Given the description of an element on the screen output the (x, y) to click on. 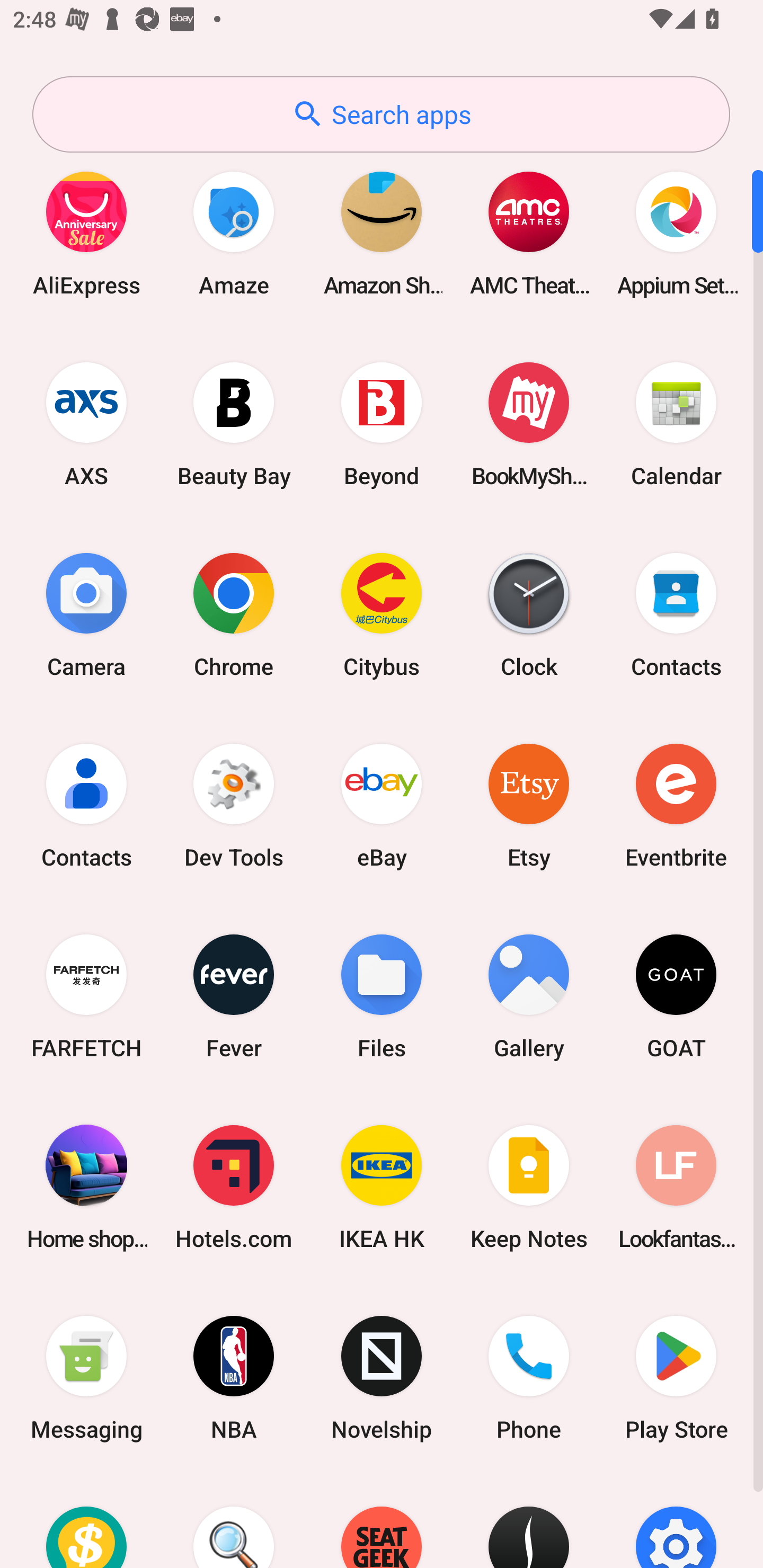
  Search apps (381, 114)
AliExpress (86, 233)
Amaze (233, 233)
Amazon Shopping (381, 233)
AMC Theatres (528, 233)
Appium Settings (676, 233)
AXS (86, 424)
Beauty Bay (233, 424)
Beyond (381, 424)
BookMyShow (528, 424)
Calendar (676, 424)
Camera (86, 614)
Chrome (233, 614)
Citybus (381, 614)
Clock (528, 614)
Contacts (676, 614)
Contacts (86, 805)
Dev Tools (233, 805)
eBay (381, 805)
Etsy (528, 805)
Eventbrite (676, 805)
FARFETCH (86, 996)
Fever (233, 996)
Files (381, 996)
Gallery (528, 996)
GOAT (676, 996)
Home shopping (86, 1186)
Hotels.com (233, 1186)
IKEA HK (381, 1186)
Keep Notes (528, 1186)
Lookfantastic (676, 1186)
Messaging (86, 1377)
NBA (233, 1377)
Novelship (381, 1377)
Phone (528, 1377)
Play Store (676, 1377)
